Given the description of an element on the screen output the (x, y) to click on. 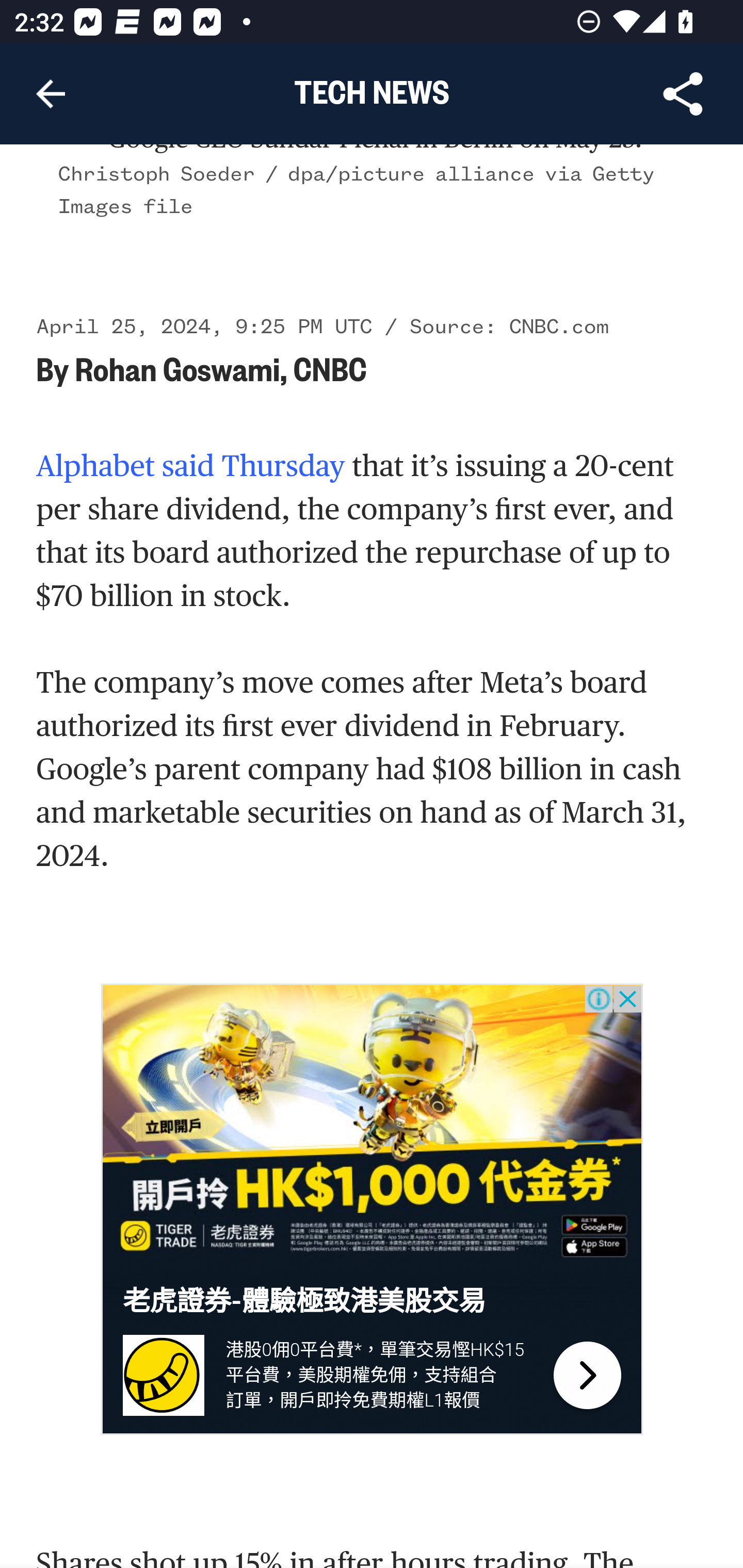
Navigate up (50, 93)
Share Article, button (683, 94)
老虎證券-體驗極致港美股交易 (304, 1301)
